Given the description of an element on the screen output the (x, y) to click on. 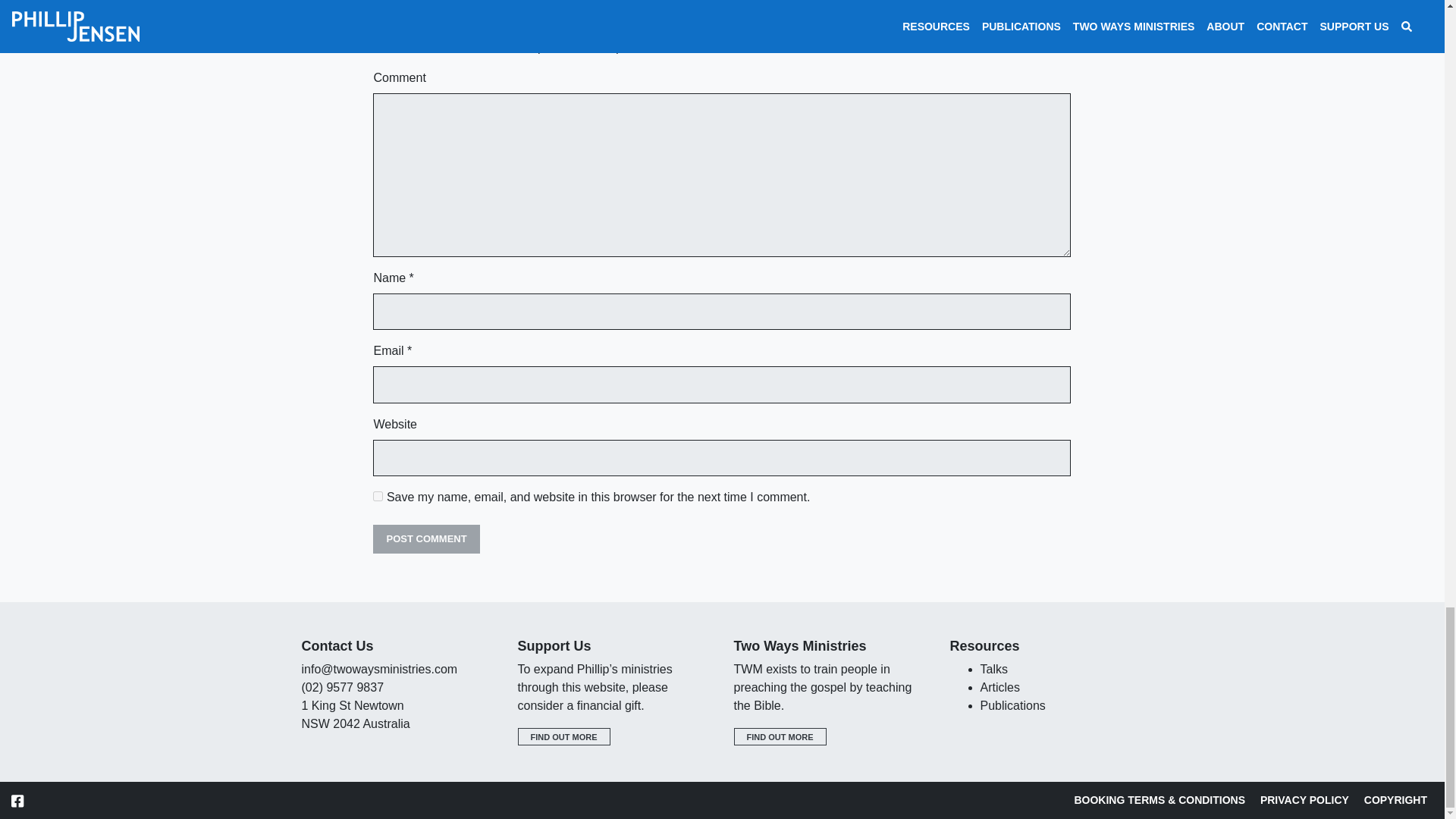
Find out how you can support us (563, 737)
Contact us via email (379, 668)
Find out more about Two Ways Ministries (780, 737)
Visit us (355, 714)
FIND OUT MORE (563, 737)
yes (377, 496)
Articles (999, 686)
FIND OUT MORE (780, 737)
Talks (993, 668)
Post Comment (425, 538)
Post Comment (425, 538)
Publications (1012, 705)
COPYRIGHT (1395, 799)
Contact us via phone (342, 686)
PRIVACY POLICY (1304, 799)
